Given the description of an element on the screen output the (x, y) to click on. 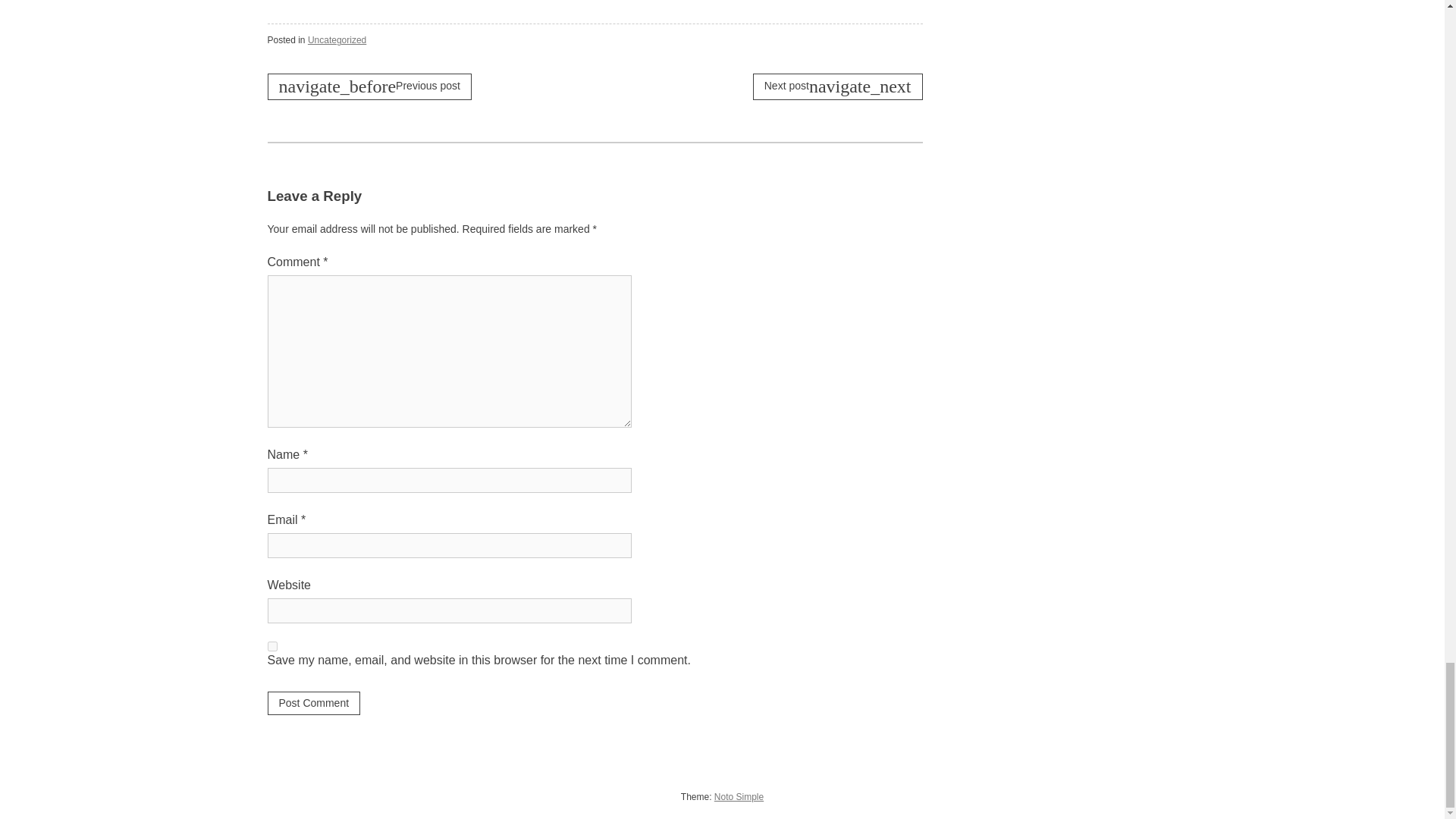
Post Comment (312, 702)
yes (271, 646)
Post Comment (312, 702)
Uncategorized (336, 40)
